Given the description of an element on the screen output the (x, y) to click on. 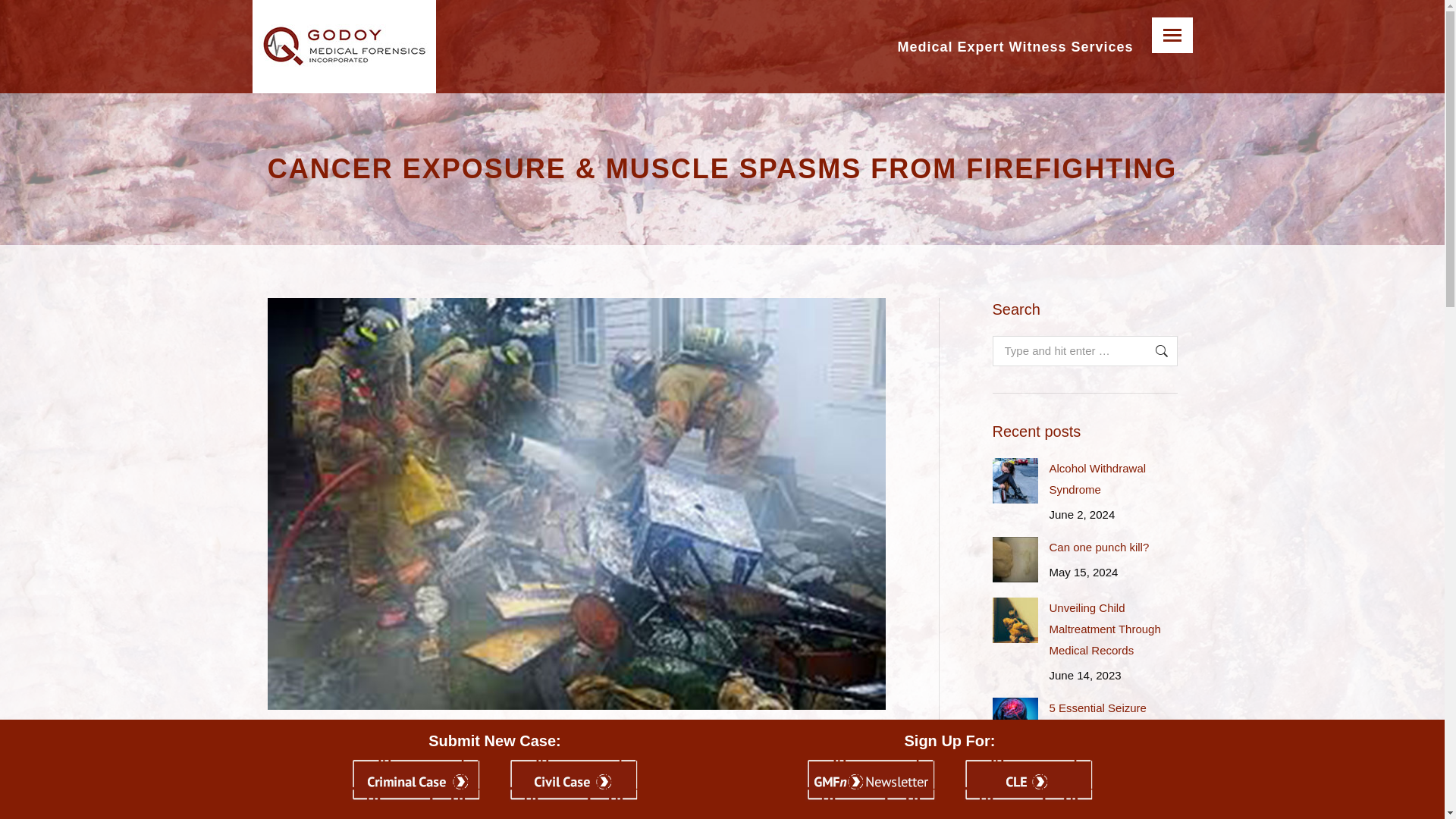
Go! (1153, 350)
Go! (1153, 350)
